Given the description of an element on the screen output the (x, y) to click on. 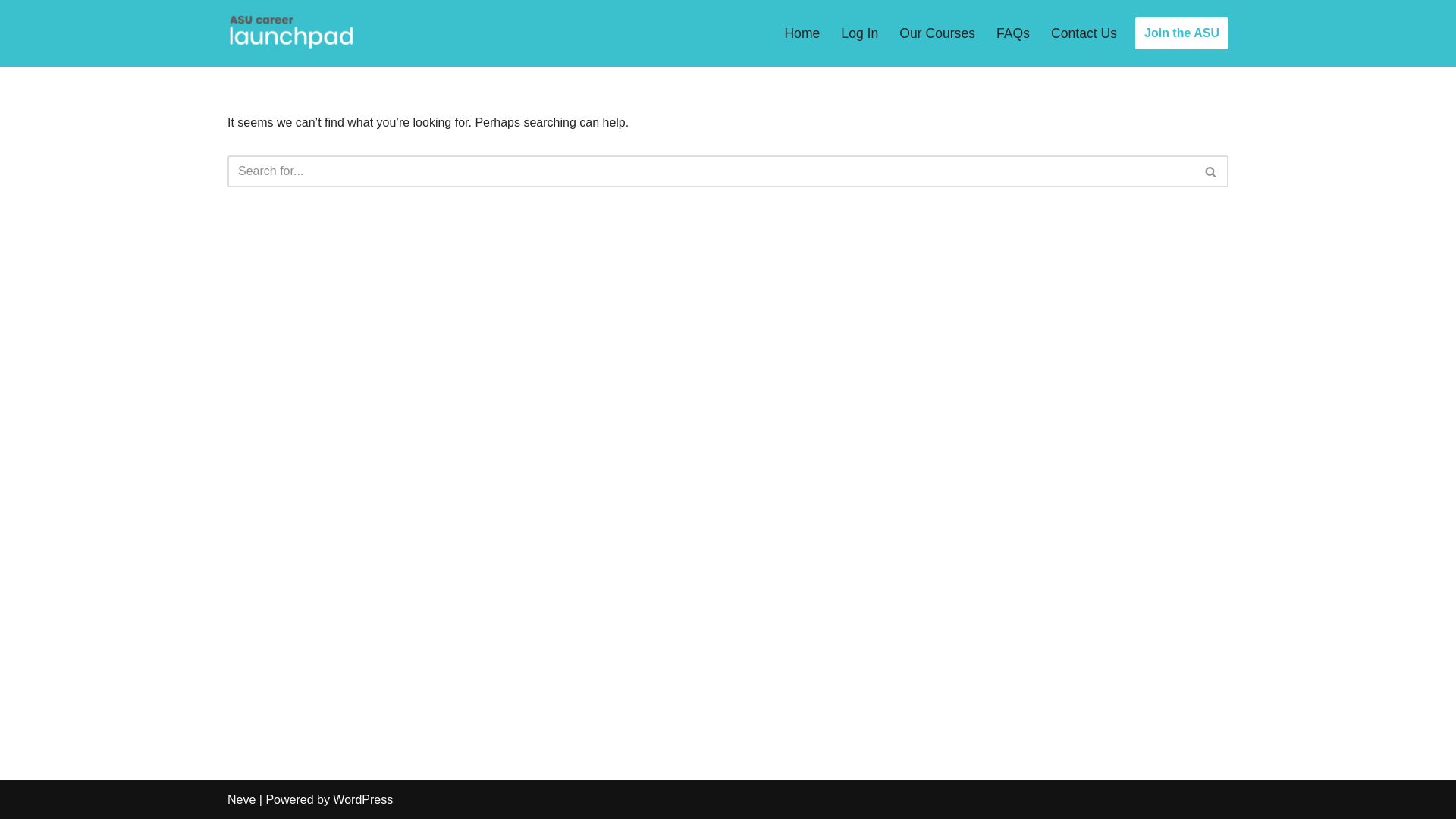
FAQs Element type: text (1012, 32)
Join the ASU Element type: text (1181, 33)
WordPress Element type: text (362, 799)
Contact Us Element type: text (1084, 32)
Skip to content Element type: text (11, 31)
Neve Element type: text (241, 799)
Our Courses Element type: text (937, 32)
Home Element type: text (801, 32)
Log In Element type: text (859, 32)
